Given the description of an element on the screen output the (x, y) to click on. 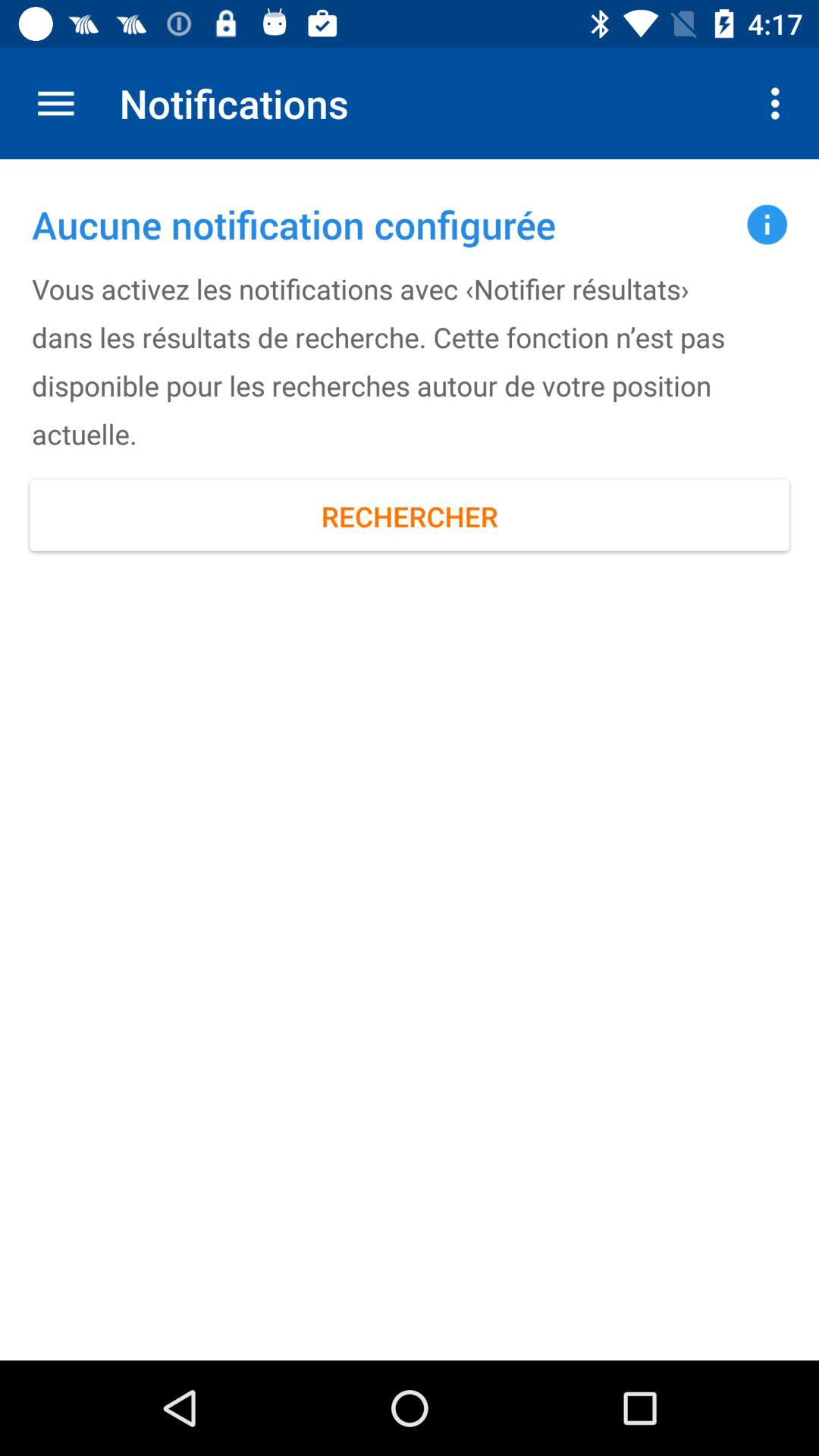
scroll to the rechercher icon (409, 516)
